Given the description of an element on the screen output the (x, y) to click on. 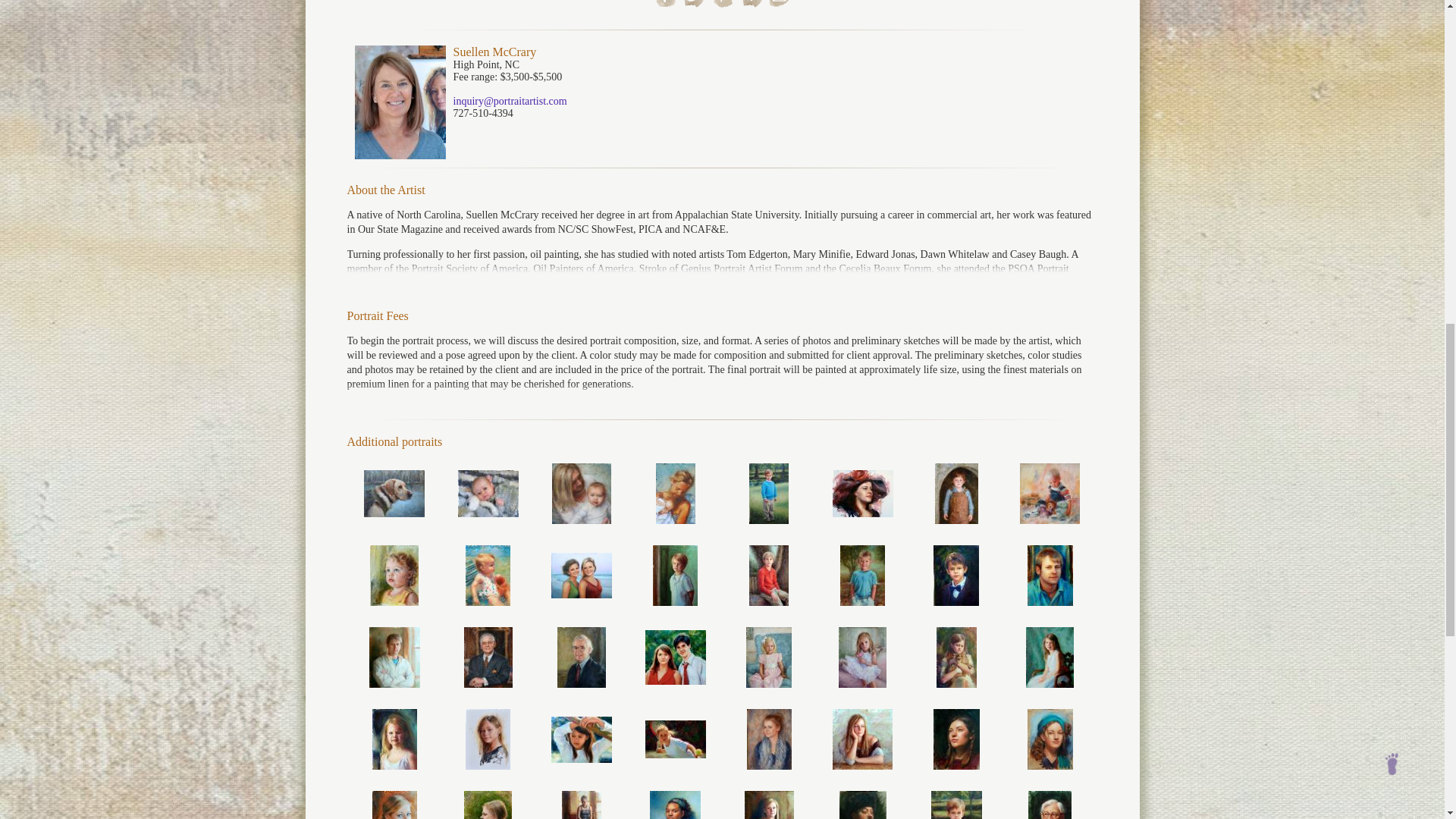
portraits, portrait artists (394, 493)
Add to favorites (750, 4)
portraits, portrait artists (862, 493)
Share on Facebook (665, 4)
Tweet (694, 4)
portraits, portrait artists (581, 493)
portraits, portrait artists (488, 493)
Pin it (723, 4)
portraits, portrait artists (956, 493)
Add to favorites (750, 3)
portraits, portrait artists (769, 493)
portraits, portrait artists (675, 493)
